Given the description of an element on the screen output the (x, y) to click on. 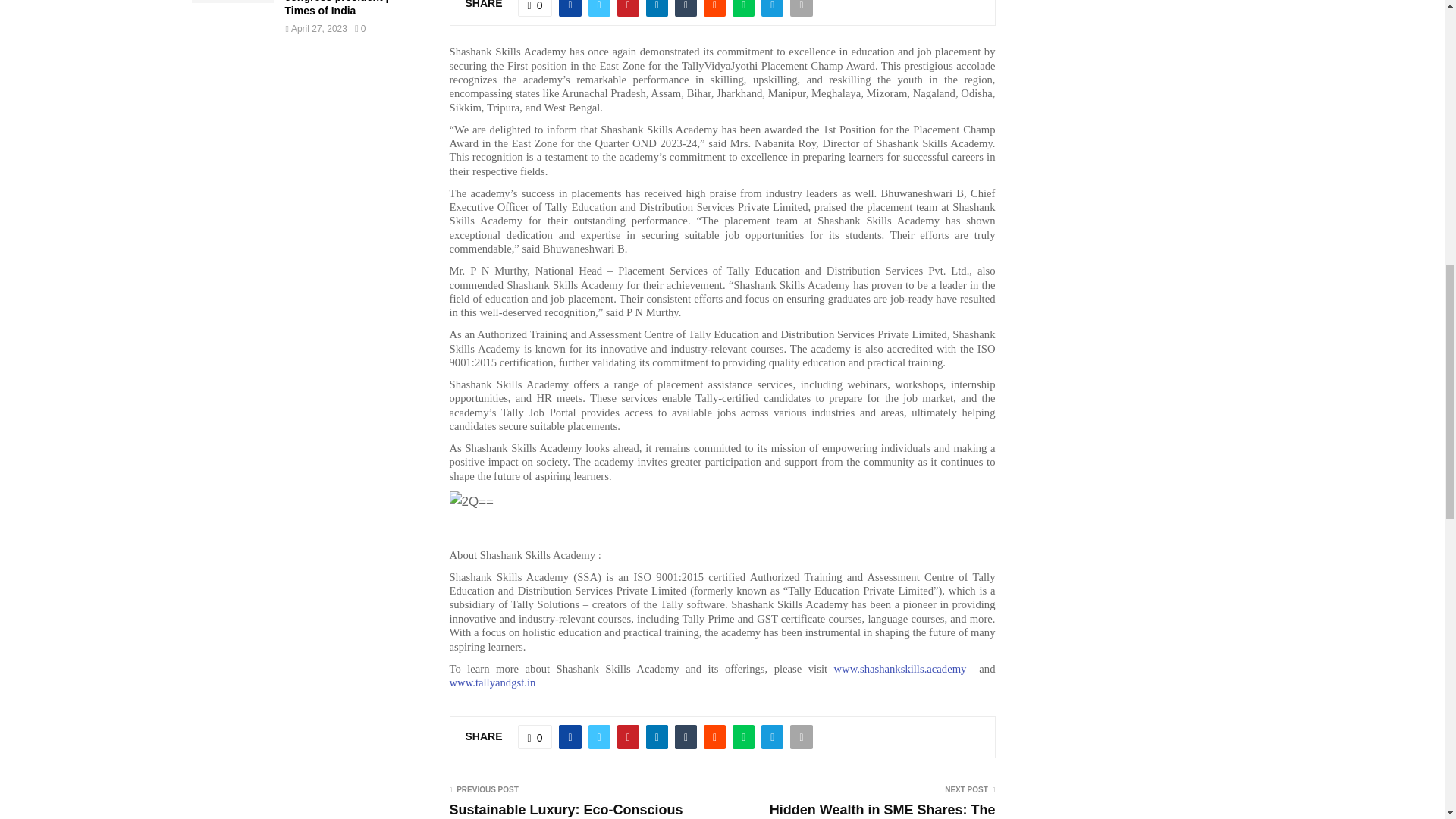
Like (535, 736)
Like (535, 8)
